Given the description of an element on the screen output the (x, y) to click on. 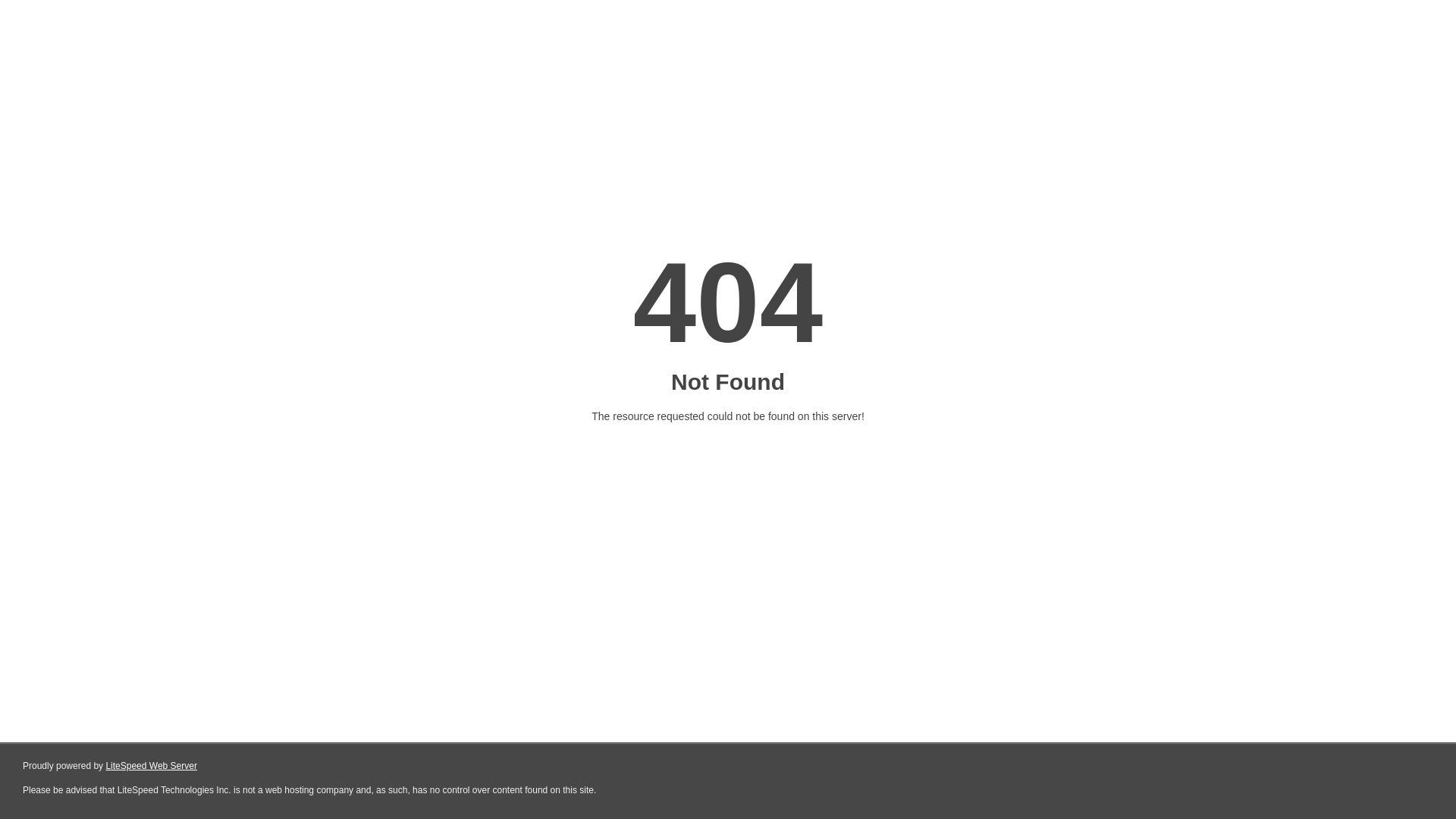
LiteSpeed Web Server Element type: text (151, 765)
